Given the description of an element on the screen output the (x, y) to click on. 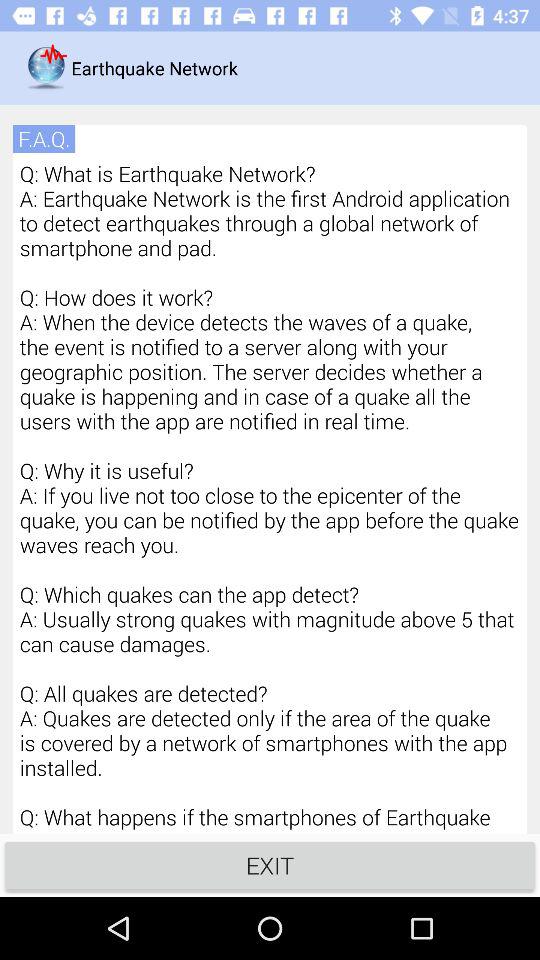
launch the item below the f.a.q. item (269, 496)
